Given the description of an element on the screen output the (x, y) to click on. 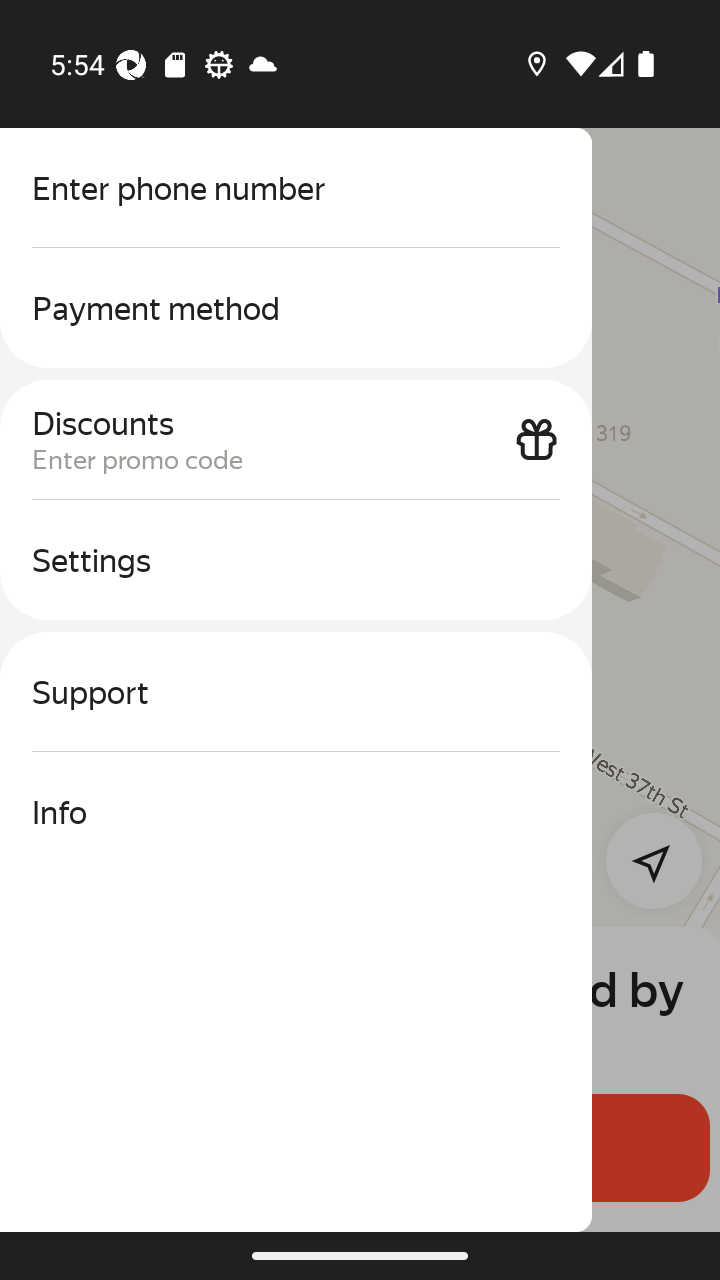
Enter phone number (295, 188)
Payment method (295, 308)
Settings (295, 559)
Support (295, 692)
Info (295, 811)
